Given the description of an element on the screen output the (x, y) to click on. 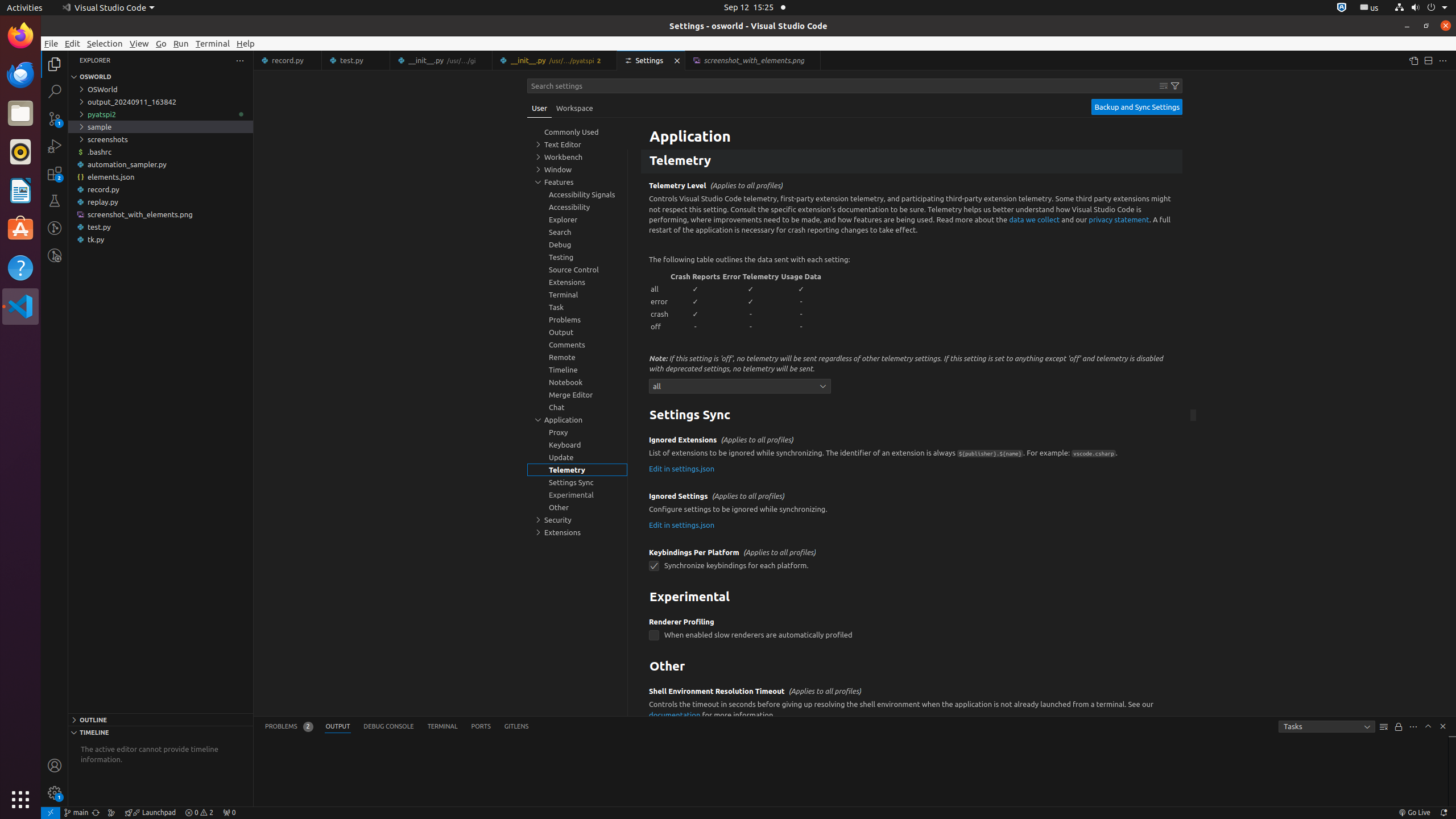
screenshot_with_elements.png, preview Element type: page-tab (753, 60)
Workspace Element type: check-box (574, 107)
Output, group Element type: tree-item (577, 331)
